Given the description of an element on the screen output the (x, y) to click on. 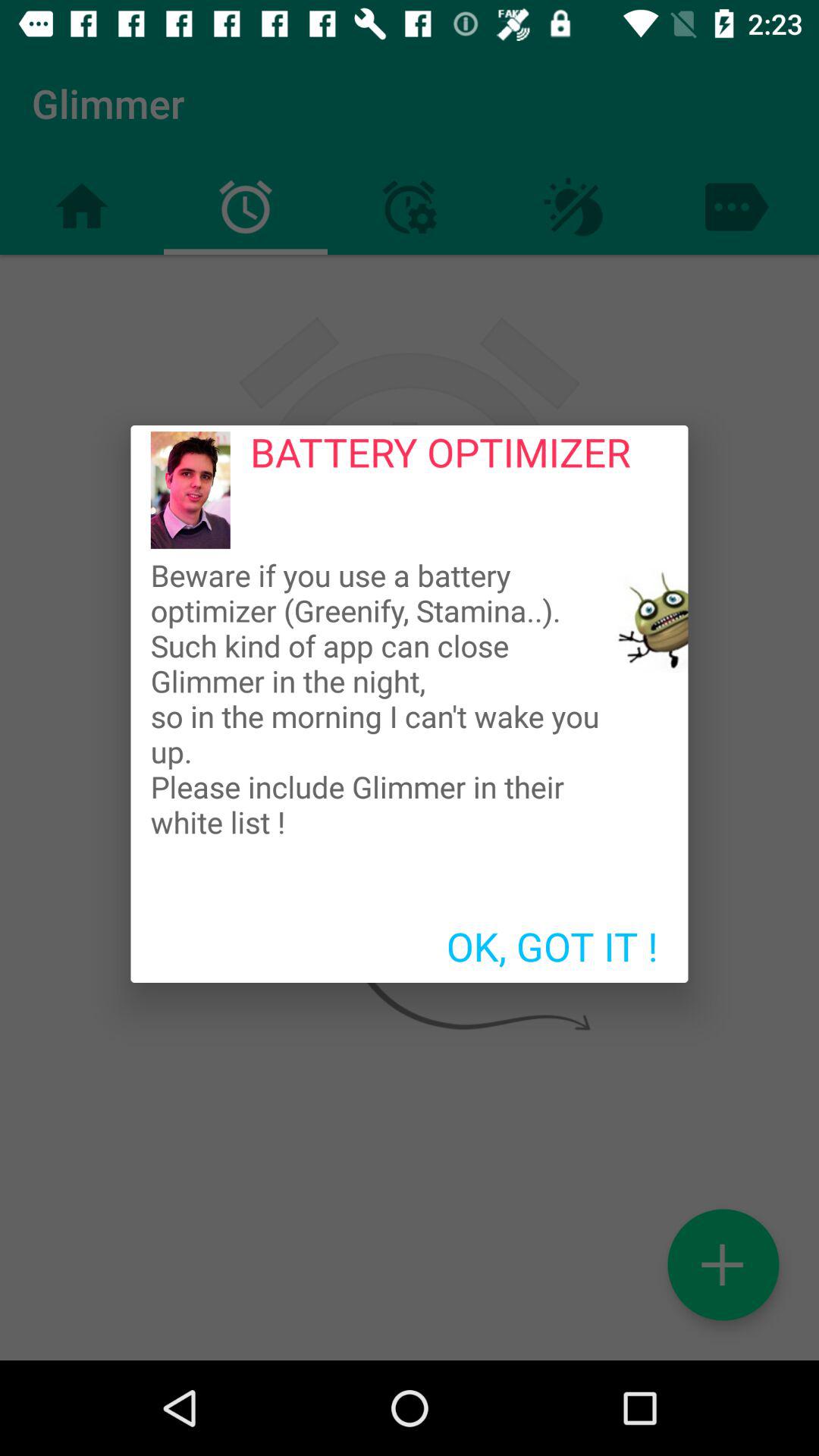
jump to ok, got it ! item (552, 945)
